Given the description of an element on the screen output the (x, y) to click on. 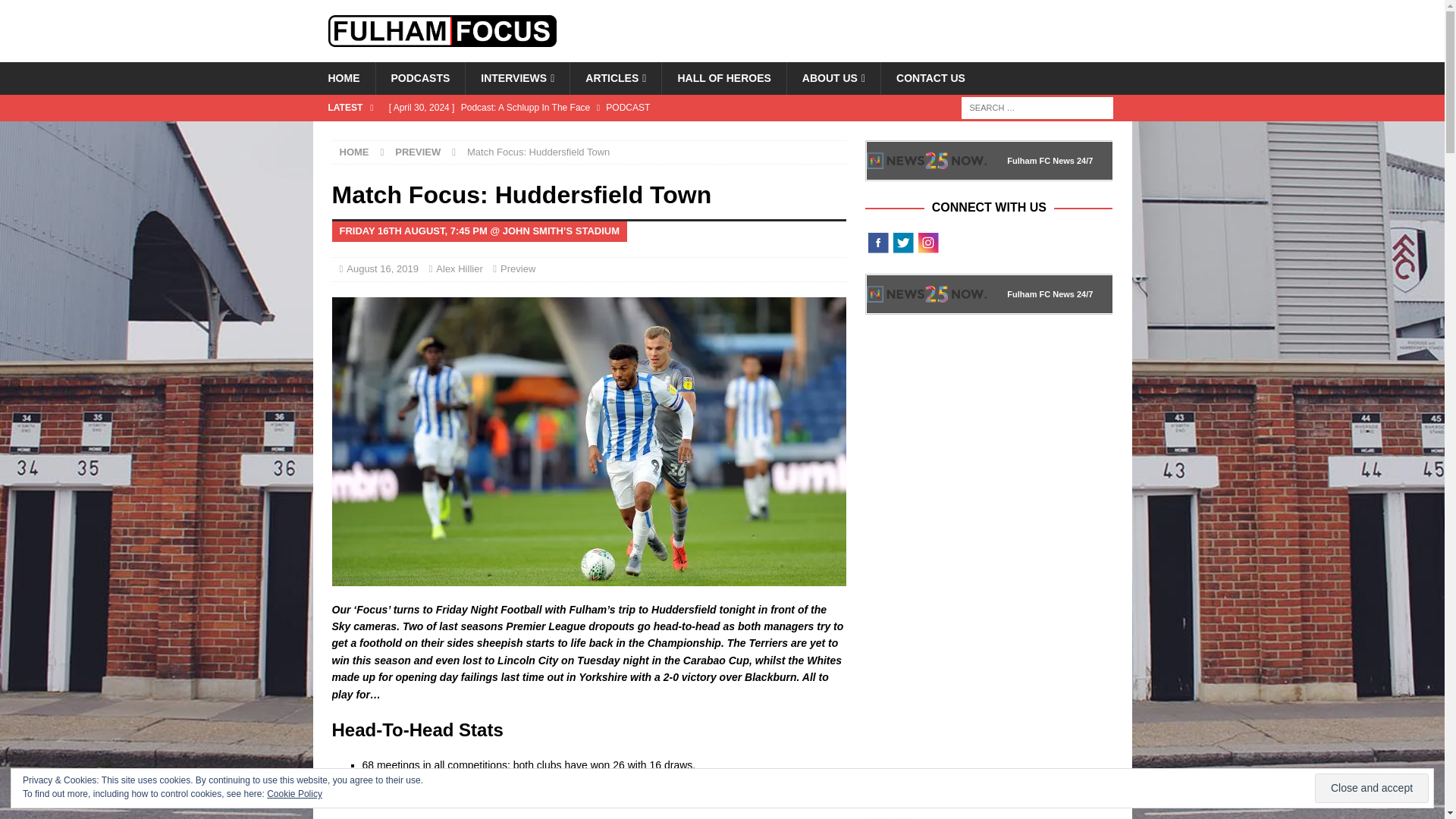
Podcast: Liverpuddle (612, 133)
Podcast: A Schlupp In The Face (612, 107)
HOME (343, 78)
HALL OF HEROES (723, 78)
ABOUT US (833, 78)
ARTICLES (615, 78)
INTERVIEWS (516, 78)
PODCASTS (419, 78)
Close and accept (1371, 788)
